Given the description of an element on the screen output the (x, y) to click on. 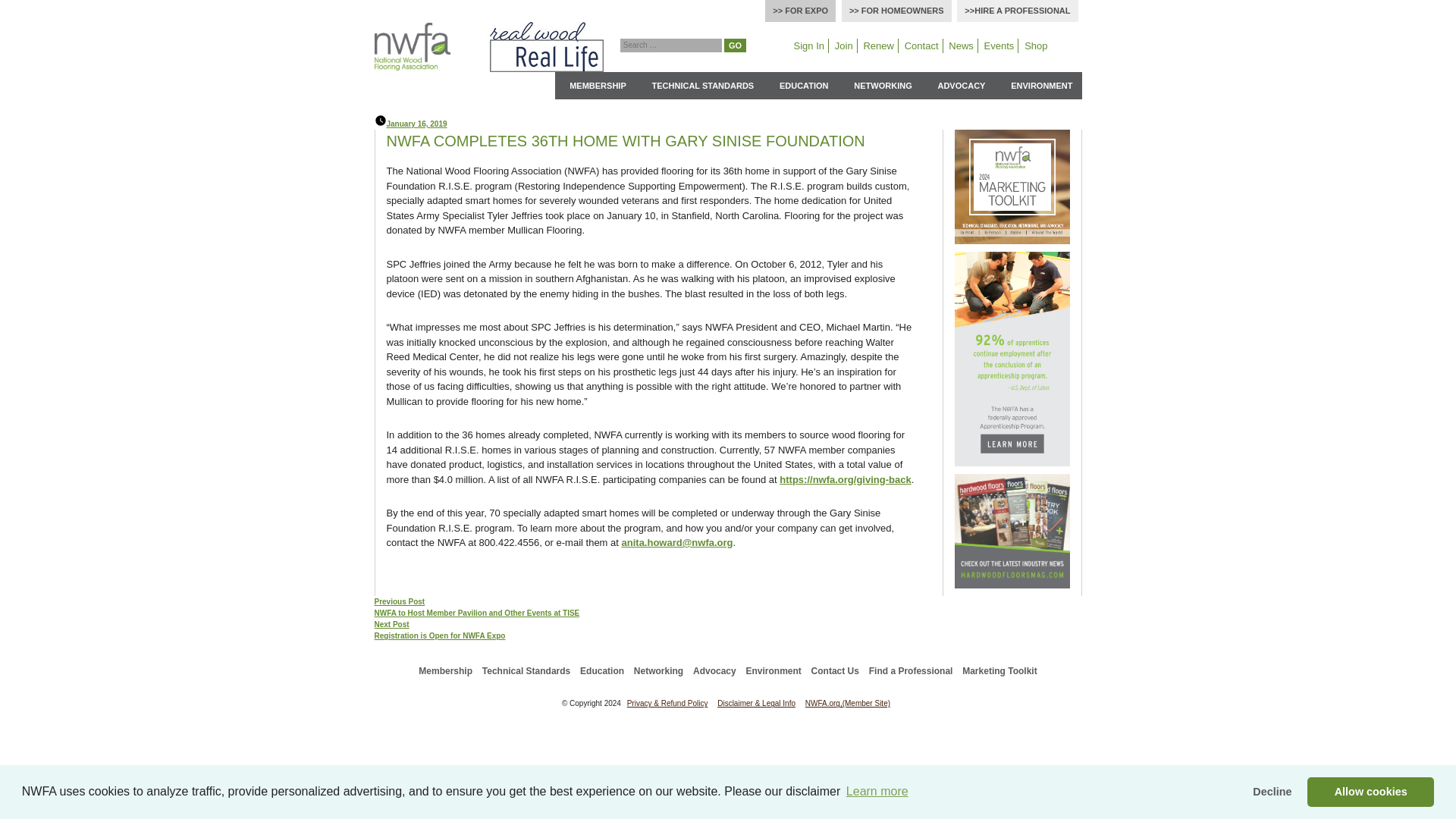
Sign In (809, 45)
TECHNICAL STANDARDS (702, 85)
Events (998, 45)
NETWORKING (882, 85)
GO (734, 44)
Renew (877, 45)
GO (734, 44)
News (960, 45)
EDUCATION (804, 85)
Join (844, 45)
MEMBERSHIP (597, 85)
Contact (921, 45)
Shop (1035, 45)
GO (734, 44)
